Given the description of an element on the screen output the (x, y) to click on. 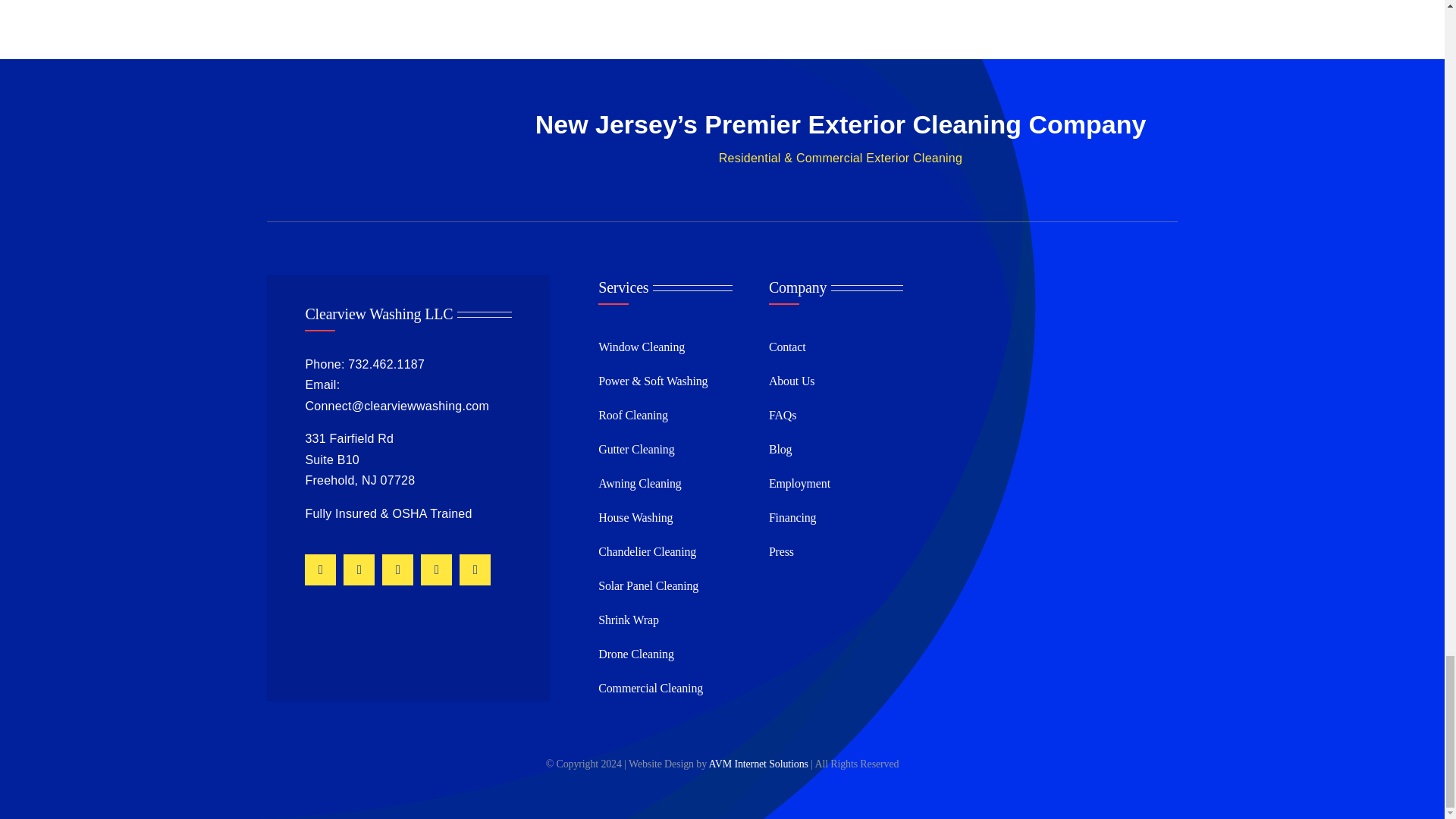
footer-logo (366, 143)
